Given the description of an element on the screen output the (x, y) to click on. 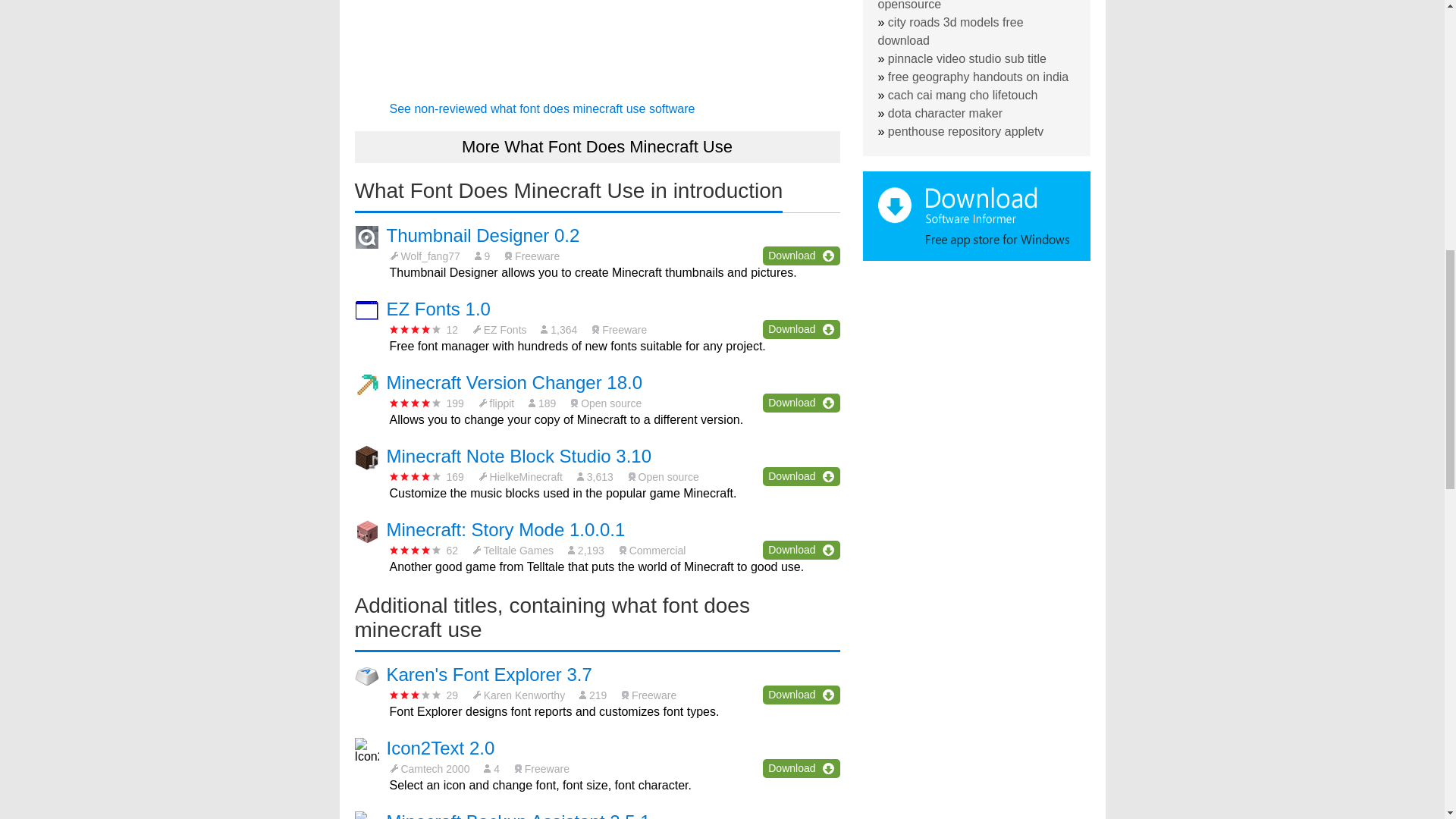
Minecraft: Story Mode 1.0.0.1 (506, 529)
4.4 (415, 550)
Download (801, 476)
Minecraft Backup Assistant 2.5.1 (518, 815)
Thumbnail Designer 0.2 (483, 235)
3.8 (415, 329)
Download (801, 549)
Minecraft Note Block Studio 3.10 (519, 455)
Minecraft: Story Mode 1.0.0.1 (506, 529)
Thumbnail Designer 0.2 (483, 235)
